Given the description of an element on the screen output the (x, y) to click on. 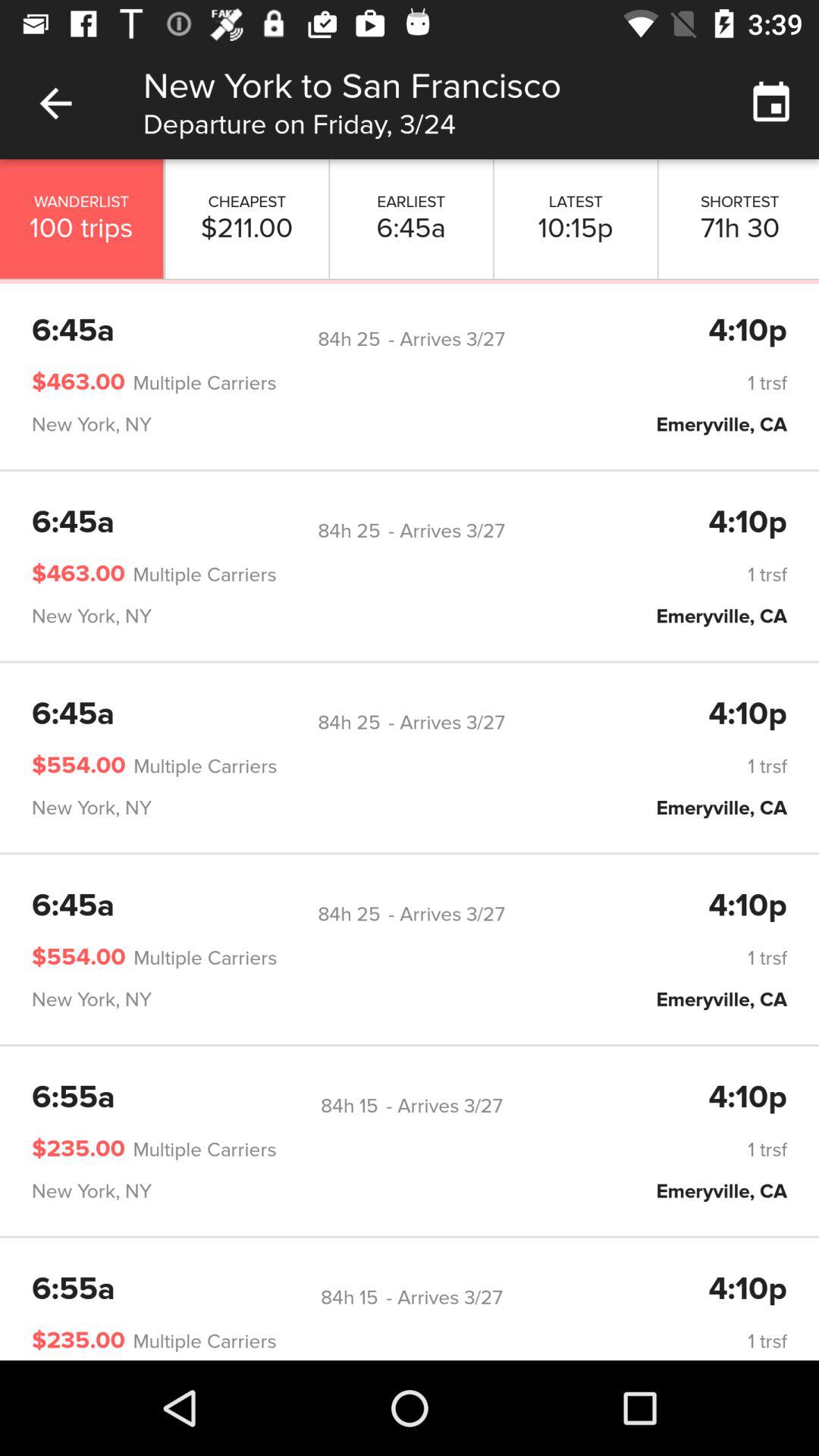
go to back (55, 103)
